Given the description of an element on the screen output the (x, y) to click on. 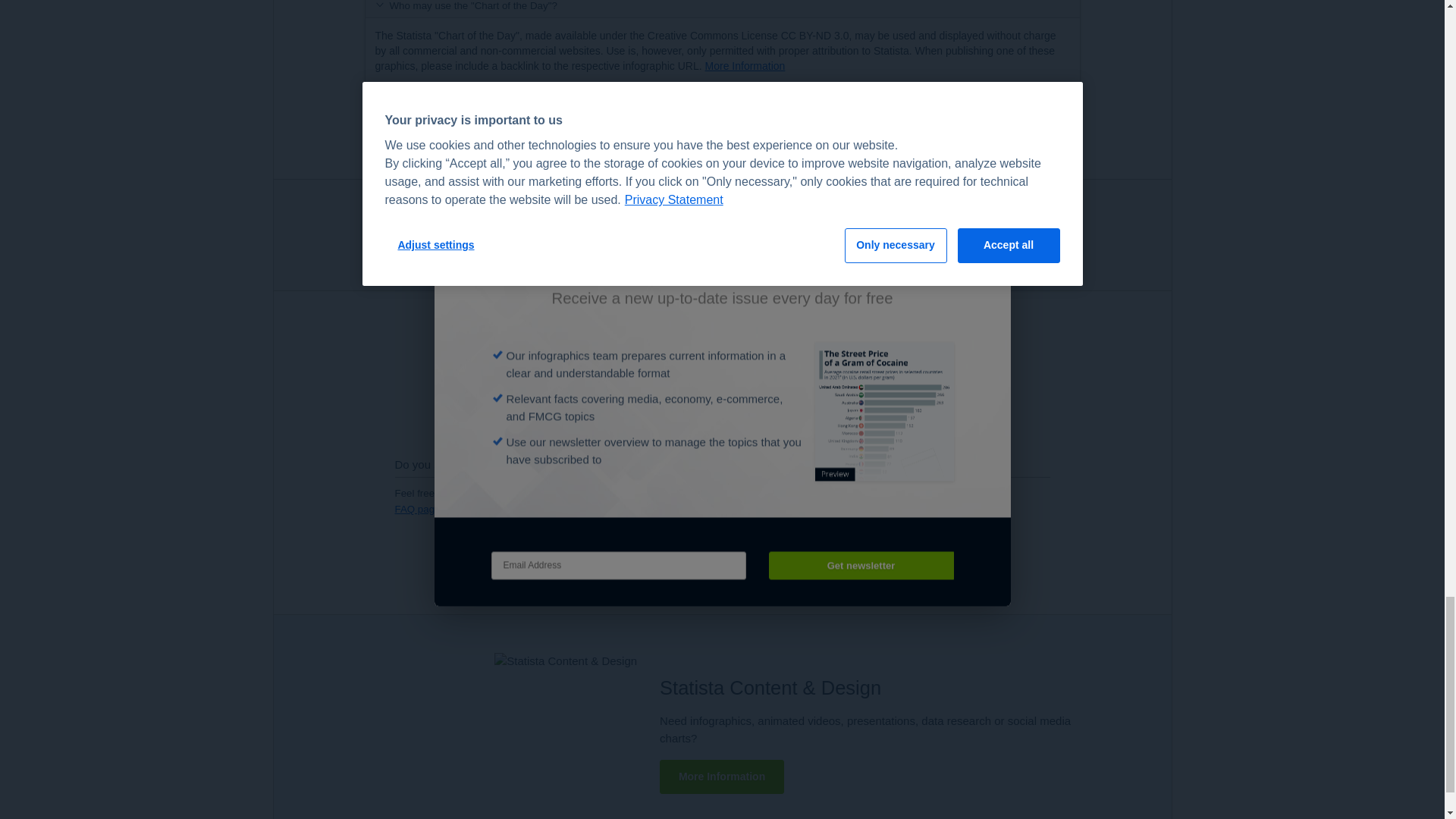
Statista Search (1032, 234)
